Given the description of an element on the screen output the (x, y) to click on. 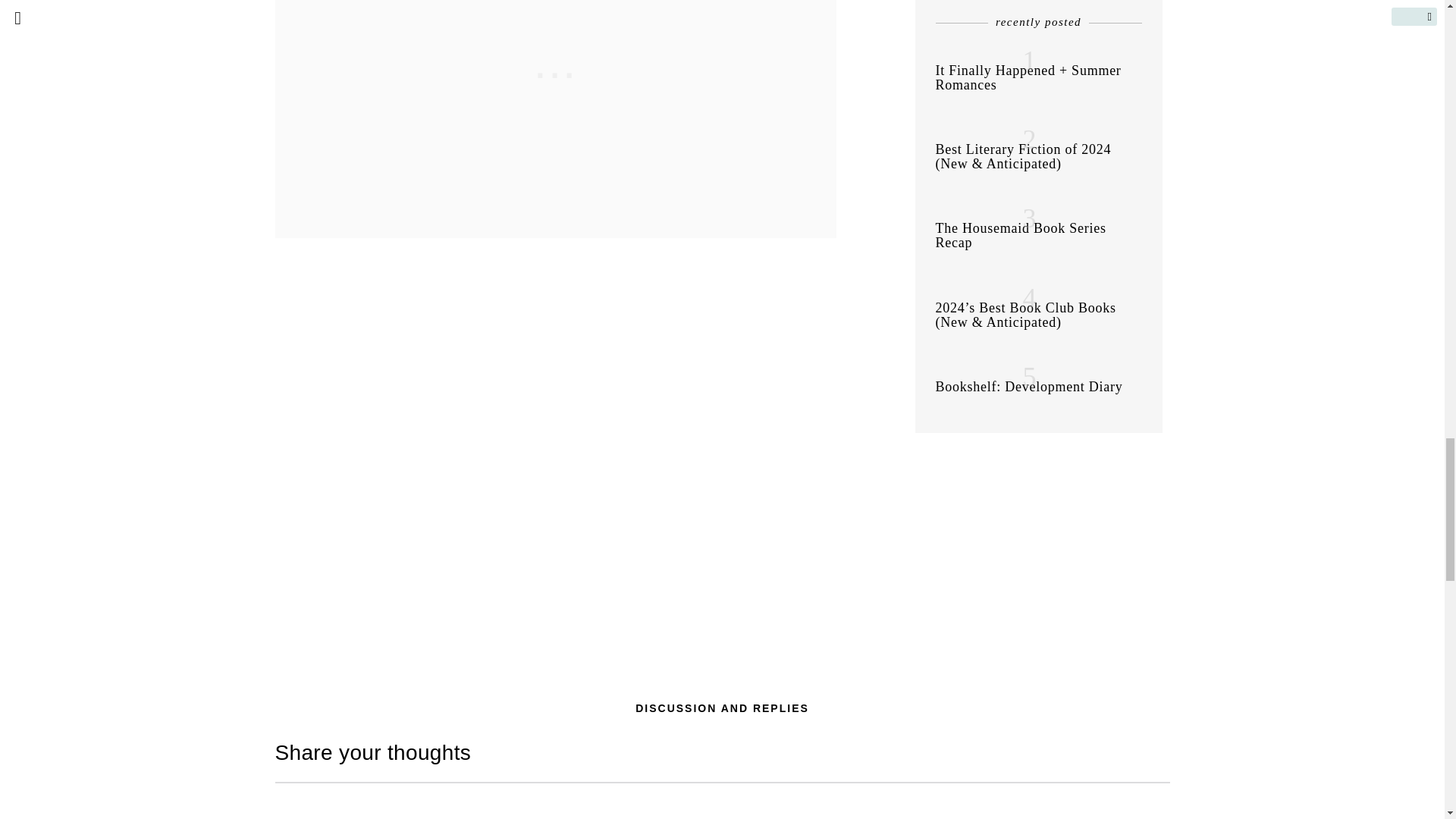
The Housemaid Book Series Recap (1021, 235)
